Given the description of an element on the screen output the (x, y) to click on. 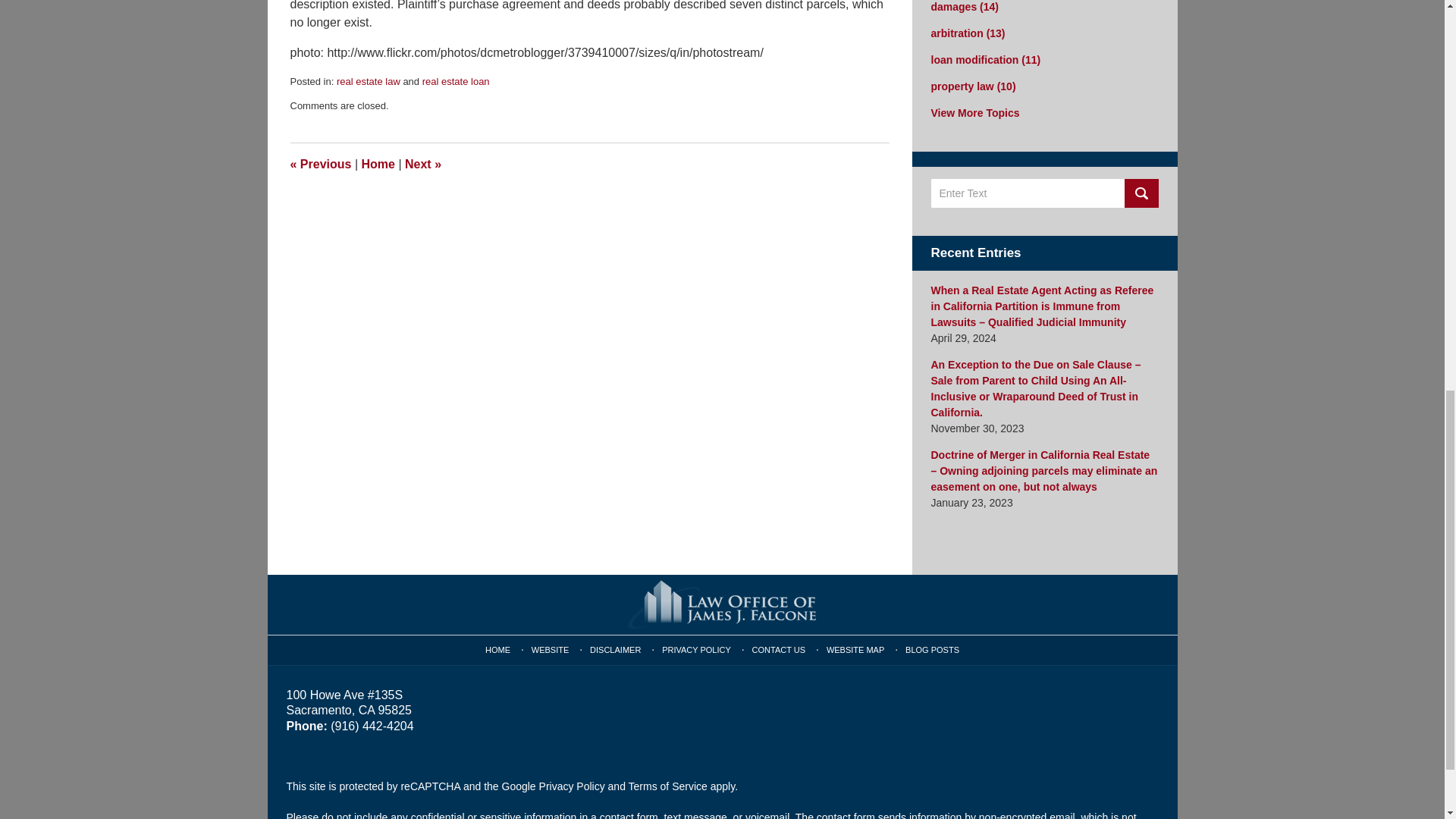
Home (377, 164)
View all posts in real estate law (368, 81)
View all posts in real estate loan (455, 81)
real estate law (368, 81)
real estate loan (455, 81)
